Given the description of an element on the screen output the (x, y) to click on. 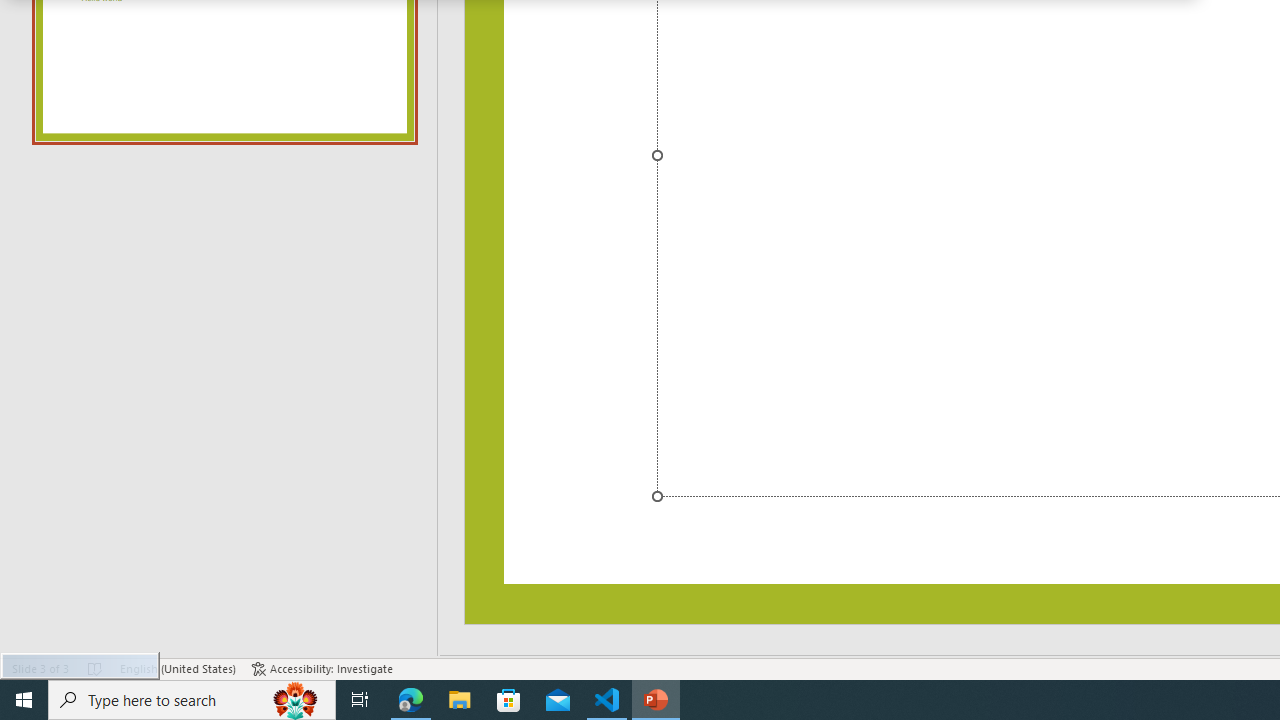
Task View (359, 699)
Search highlights icon opens search home window (295, 699)
Microsoft Edge - 1 running window (411, 699)
Spell Check No Errors (95, 668)
File Explorer (460, 699)
Start (24, 699)
Microsoft Store (509, 699)
Type here to search (191, 699)
Accessibility Checker Accessibility: Investigate (322, 668)
PowerPoint - 1 running window (656, 699)
Visual Studio Code - 1 running window (607, 699)
